Given the description of an element on the screen output the (x, y) to click on. 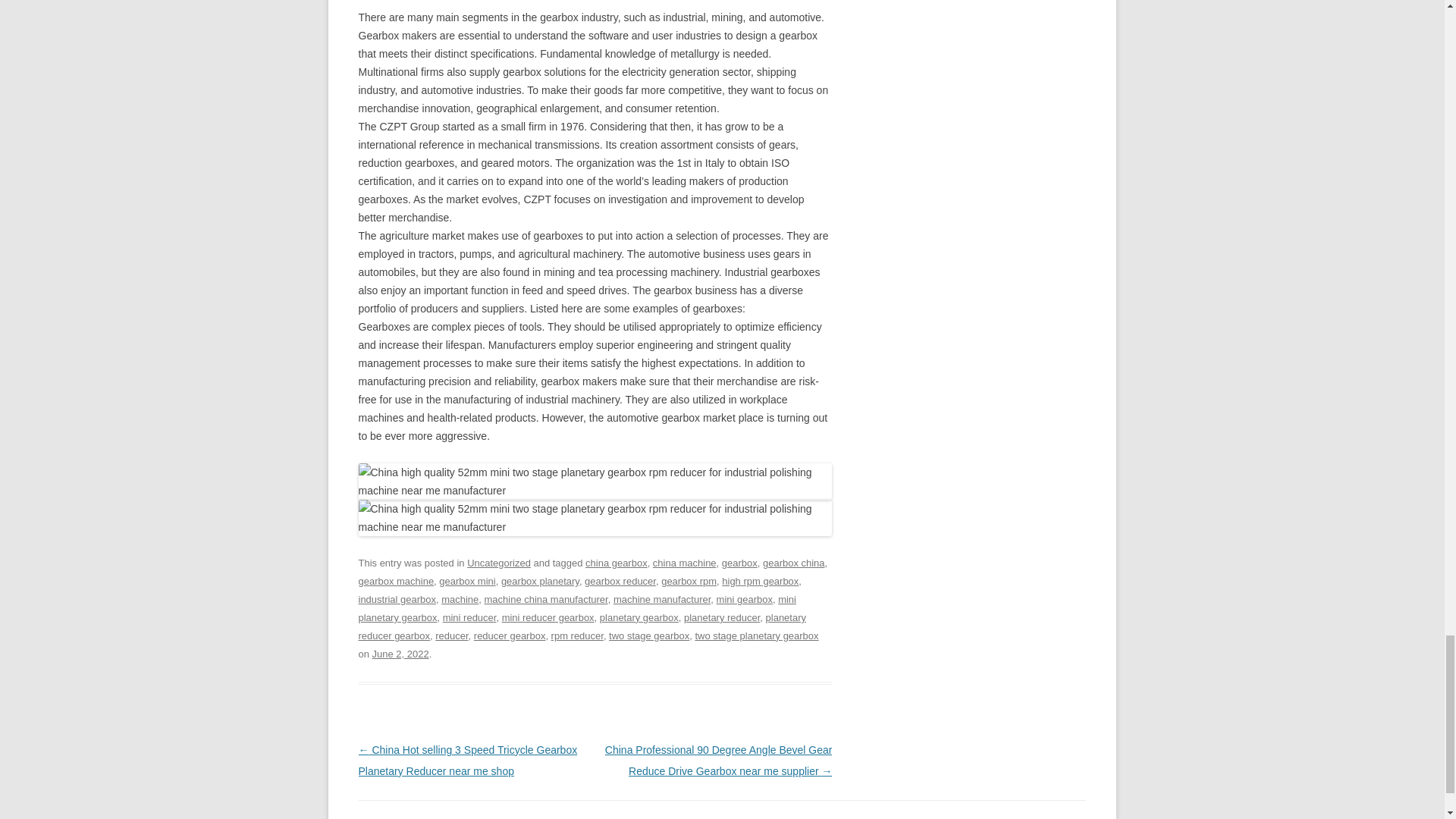
mini planetary gearbox (576, 608)
china gearbox (616, 562)
mini reducer (469, 617)
machine china manufacturer (546, 599)
mini reducer gearbox (548, 617)
machine manufacturer (661, 599)
china machine (684, 562)
mini gearbox (744, 599)
two stage gearbox (648, 635)
gearbox mini (467, 581)
Uncategorized (499, 562)
two stage planetary gearbox (756, 635)
June 2, 2022 (400, 654)
machine (460, 599)
gearbox planetary (539, 581)
